Given the description of an element on the screen output the (x, y) to click on. 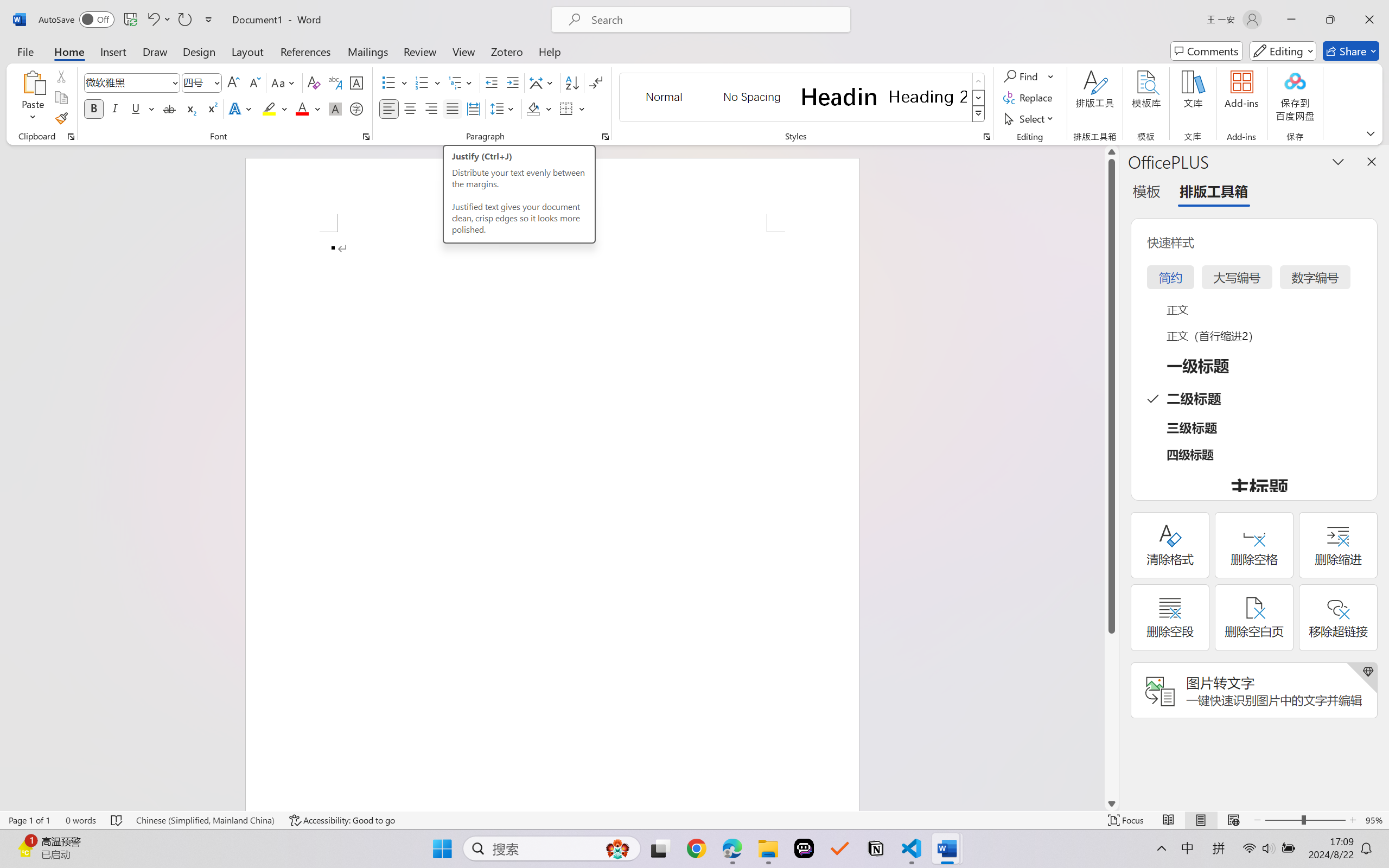
Language Chinese (Simplified, Mainland China) (205, 819)
Microsoft search (715, 19)
